Given the description of an element on the screen output the (x, y) to click on. 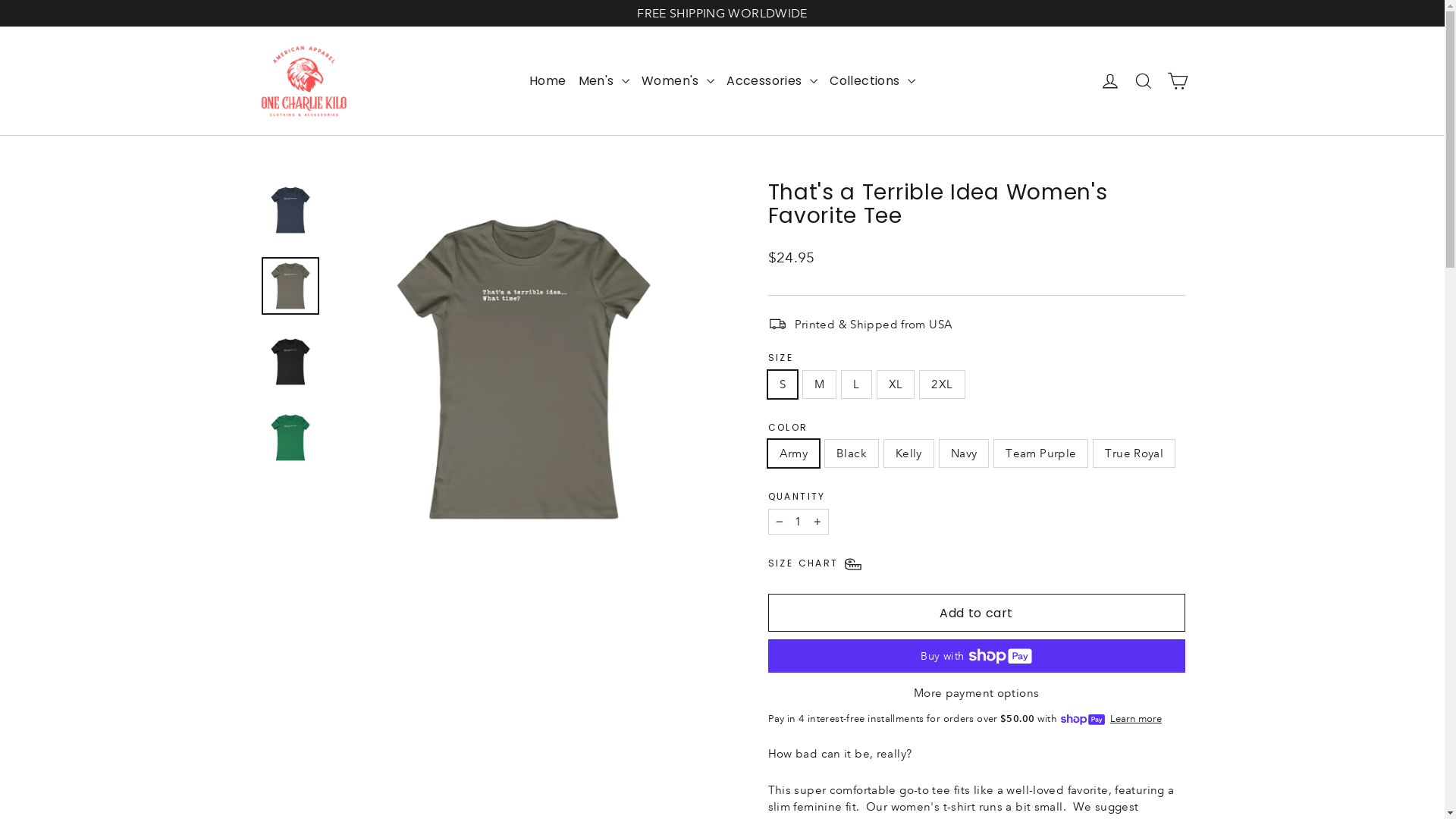
Accessories Element type: text (771, 80)
+ Element type: text (816, 521)
Add to cart Element type: text (975, 612)
More payment options Element type: text (975, 693)
Home Element type: text (547, 80)
Collections Element type: text (872, 80)
Log in Element type: text (1109, 80)
Search Element type: text (1143, 80)
Cart Element type: text (1176, 80)
Men's Element type: text (603, 80)
Women's Element type: text (677, 80)
